Given the description of an element on the screen output the (x, y) to click on. 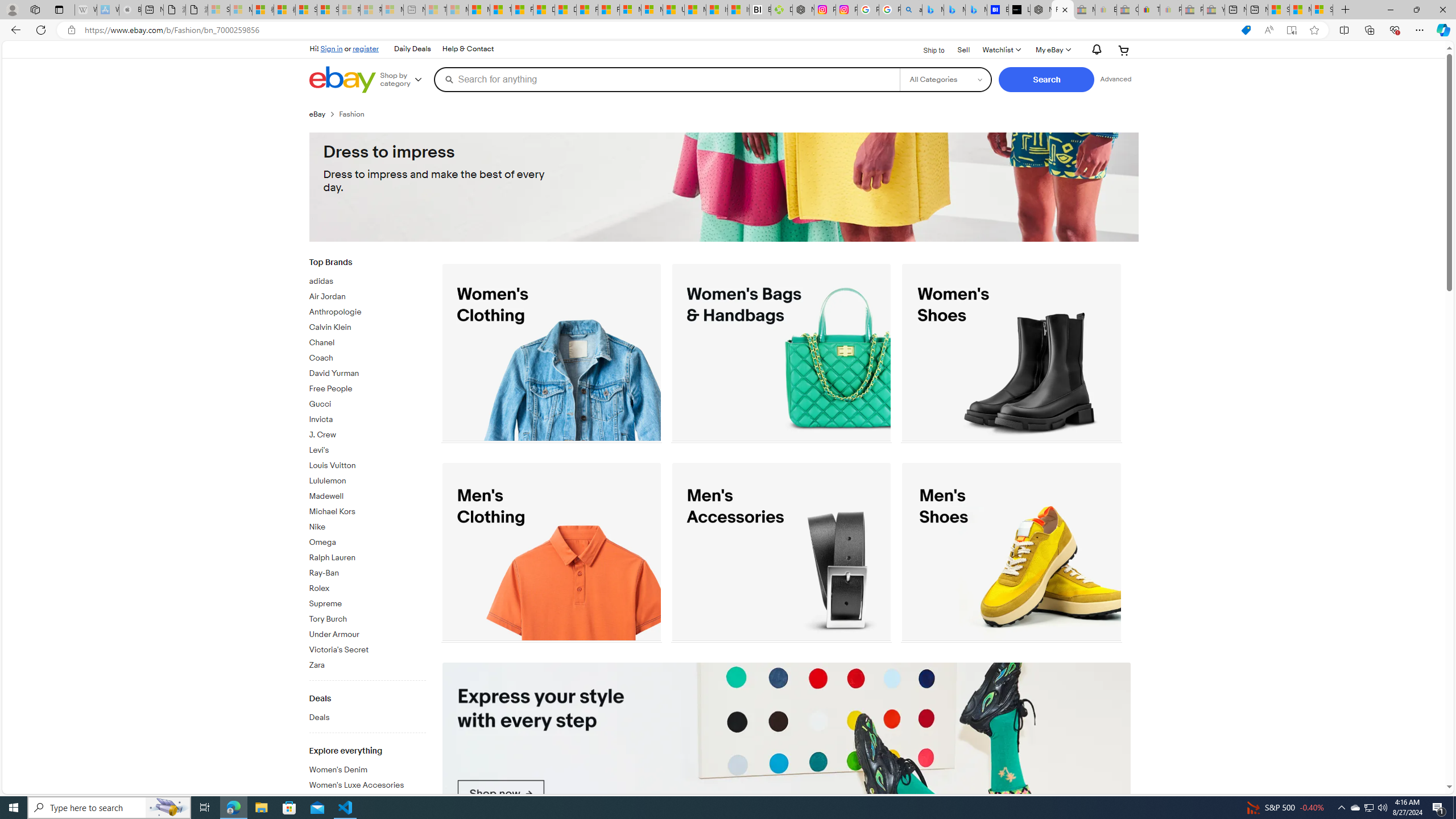
Deals (367, 715)
Michael Kors (367, 511)
Microsoft Bing Travel - Flights from Hong Kong to Bangkok (933, 9)
Louis Vuitton (367, 465)
Top Stories - MSN - Sleeping (435, 9)
adidas (367, 281)
Calvin Klein (367, 325)
eBay Home (341, 79)
Shanghai, China hourly forecast | Microsoft Weather (1278, 9)
